Given the description of an element on the screen output the (x, y) to click on. 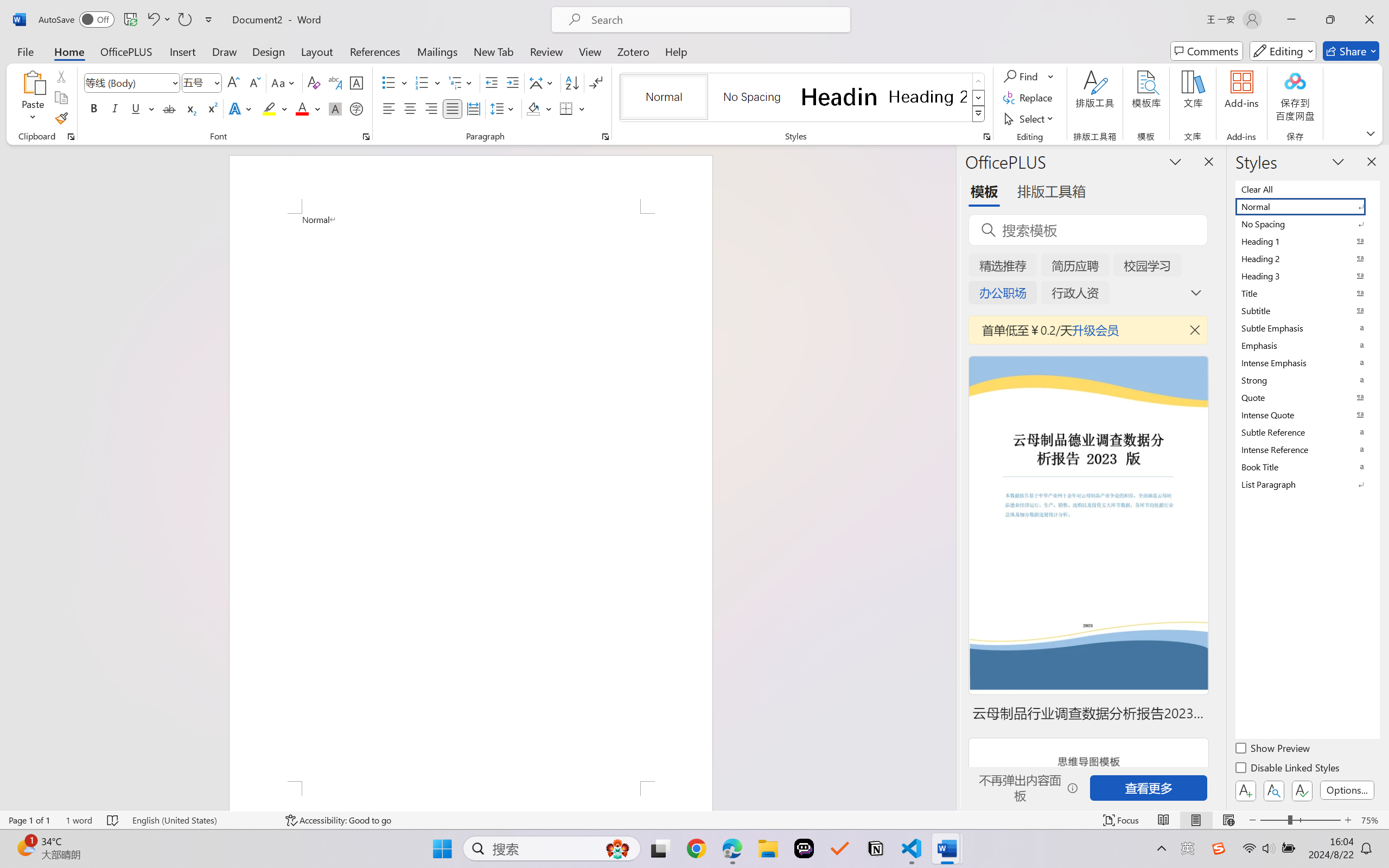
Class: NetUIImage (978, 114)
Open (215, 82)
Options... (1346, 789)
Layout (316, 51)
Grow Font (233, 82)
Subtitle (1306, 310)
Print Layout (1196, 819)
File Tab (24, 51)
Insert (182, 51)
Mode (1283, 50)
Title (1306, 293)
Intense Quote (1306, 414)
Intense Reference (1306, 449)
